Given the description of an element on the screen output the (x, y) to click on. 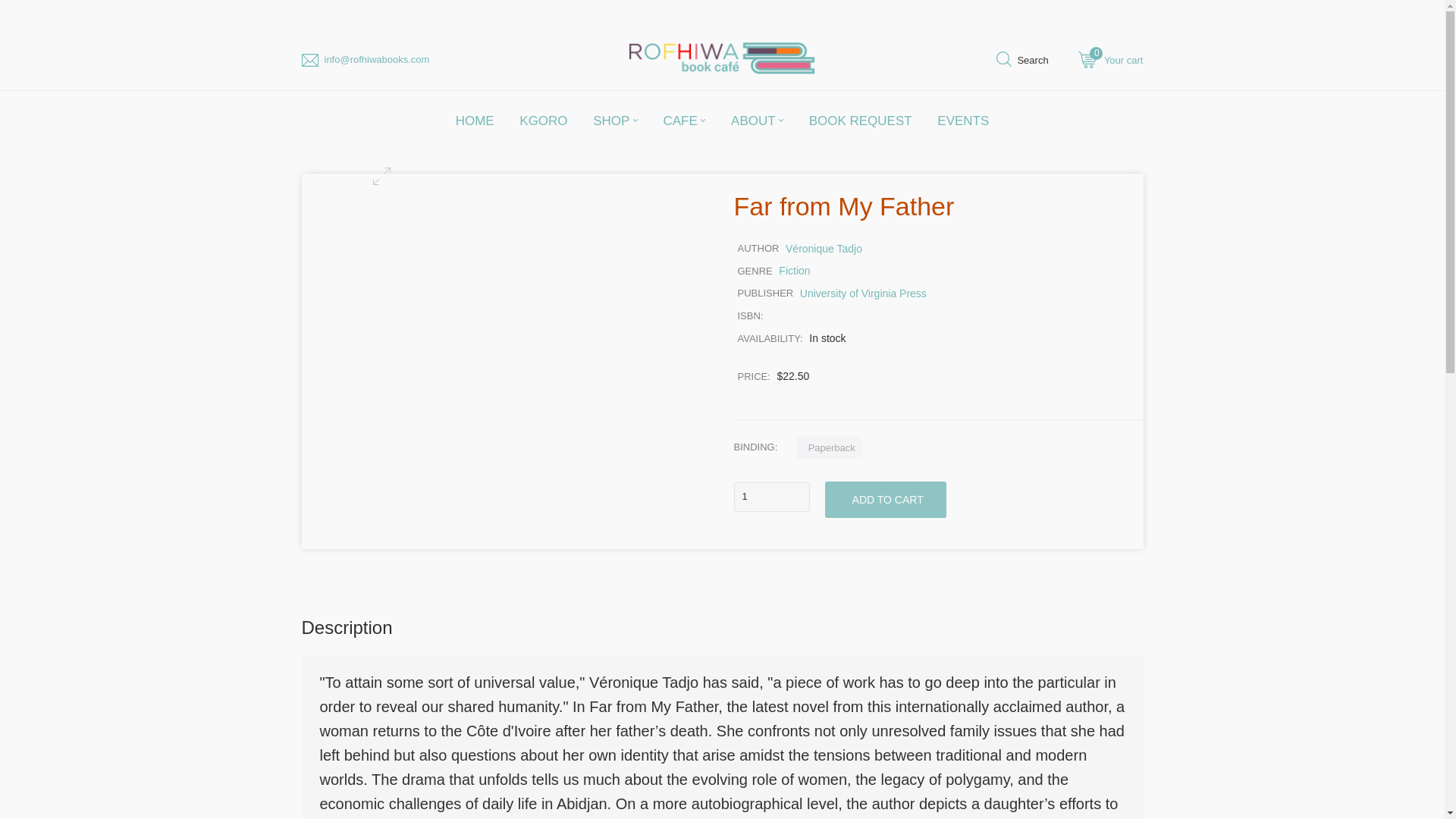
KGORO (543, 120)
Search (1021, 61)
HOME (474, 120)
1 (771, 496)
SHOP (614, 120)
